Given the description of an element on the screen output the (x, y) to click on. 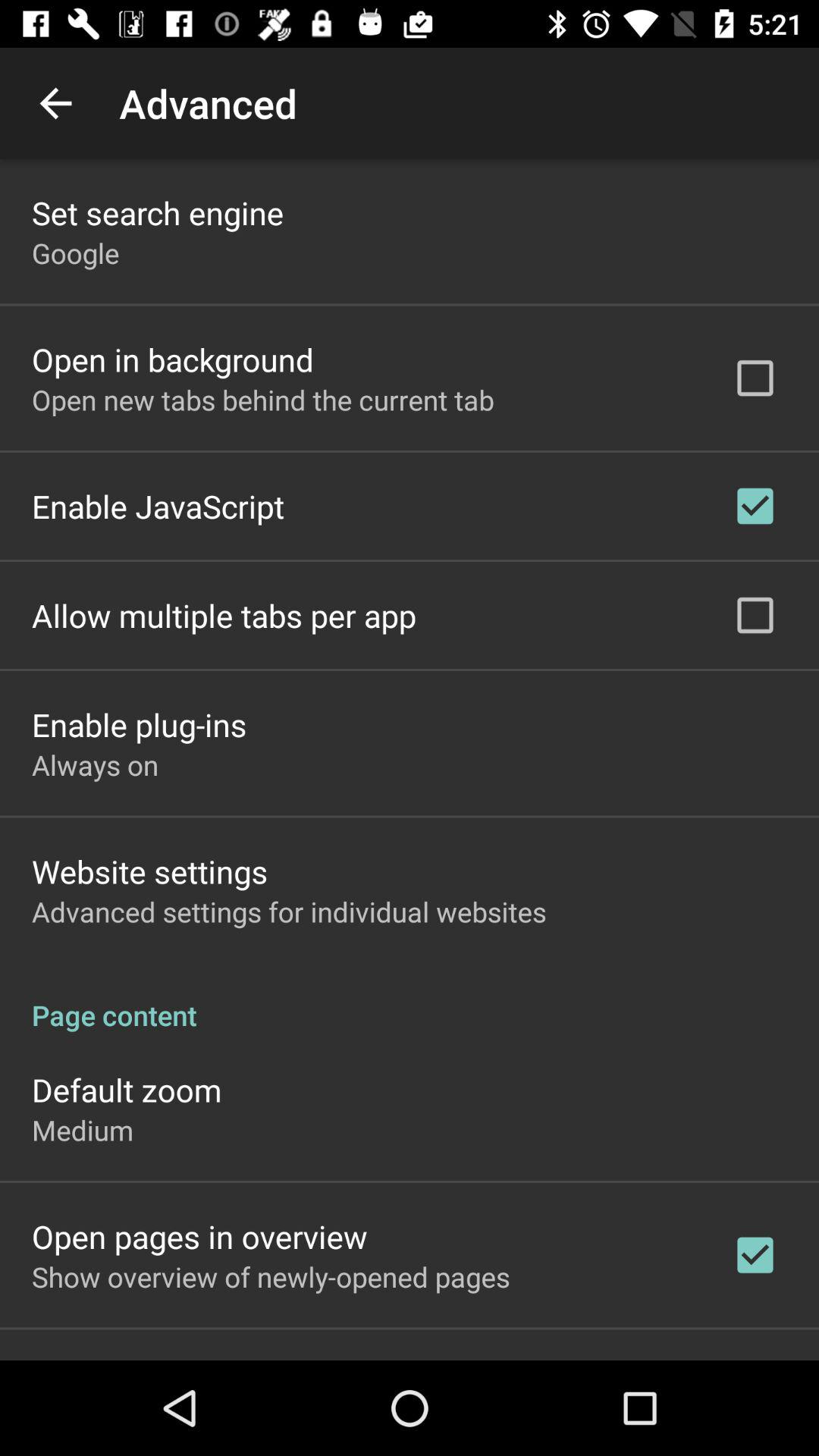
launch the app above the medium icon (126, 1089)
